Given the description of an element on the screen output the (x, y) to click on. 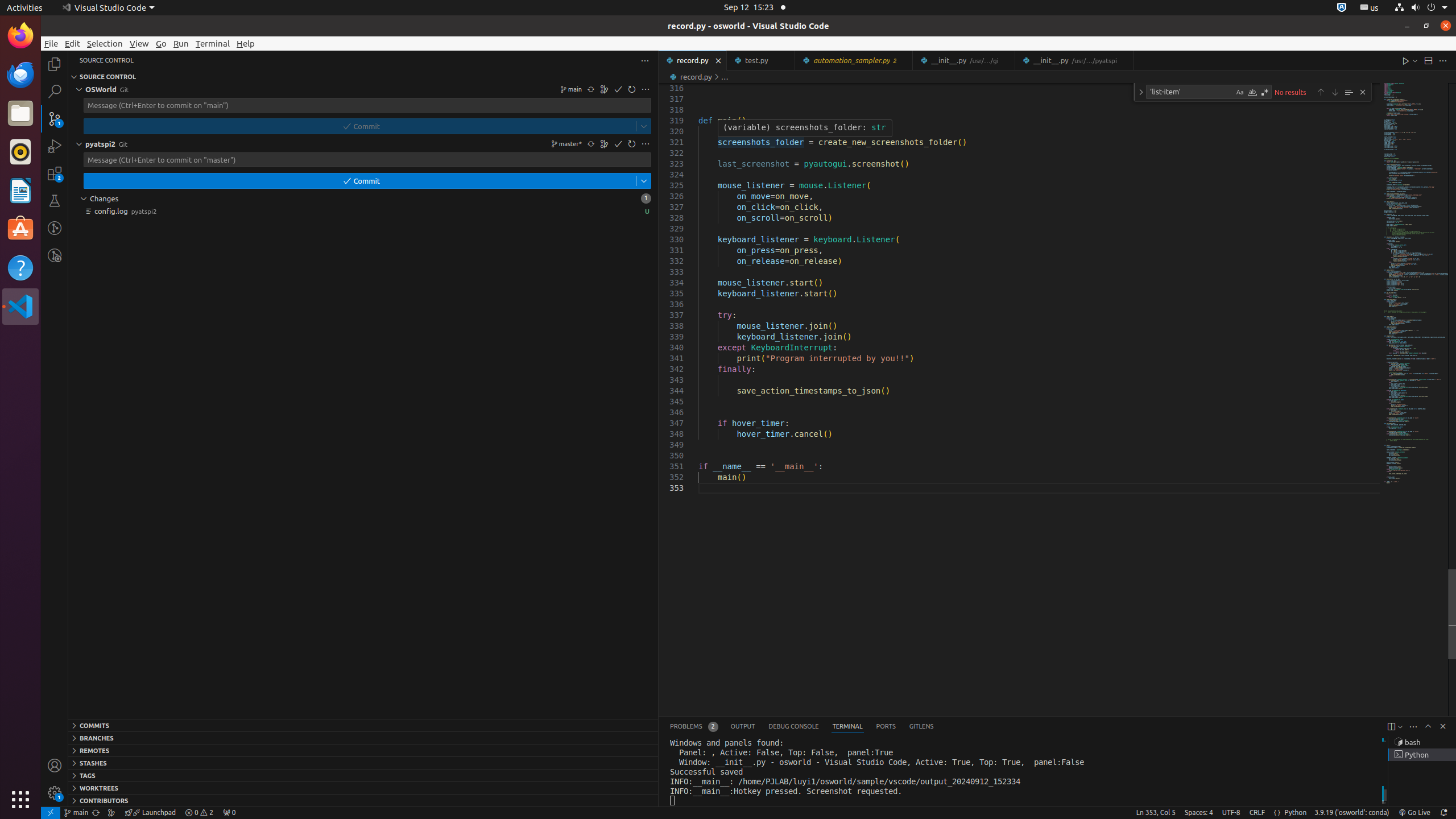
Ports Element type: page-tab (885, 726)
Source Control Input Element type: tree-item (363, 159)
Ln 353, Col 5 Element type: push-button (1155, 812)
Selection Element type: push-button (104, 43)
Commit Element type: push-button (617, 143)
